Given the description of an element on the screen output the (x, y) to click on. 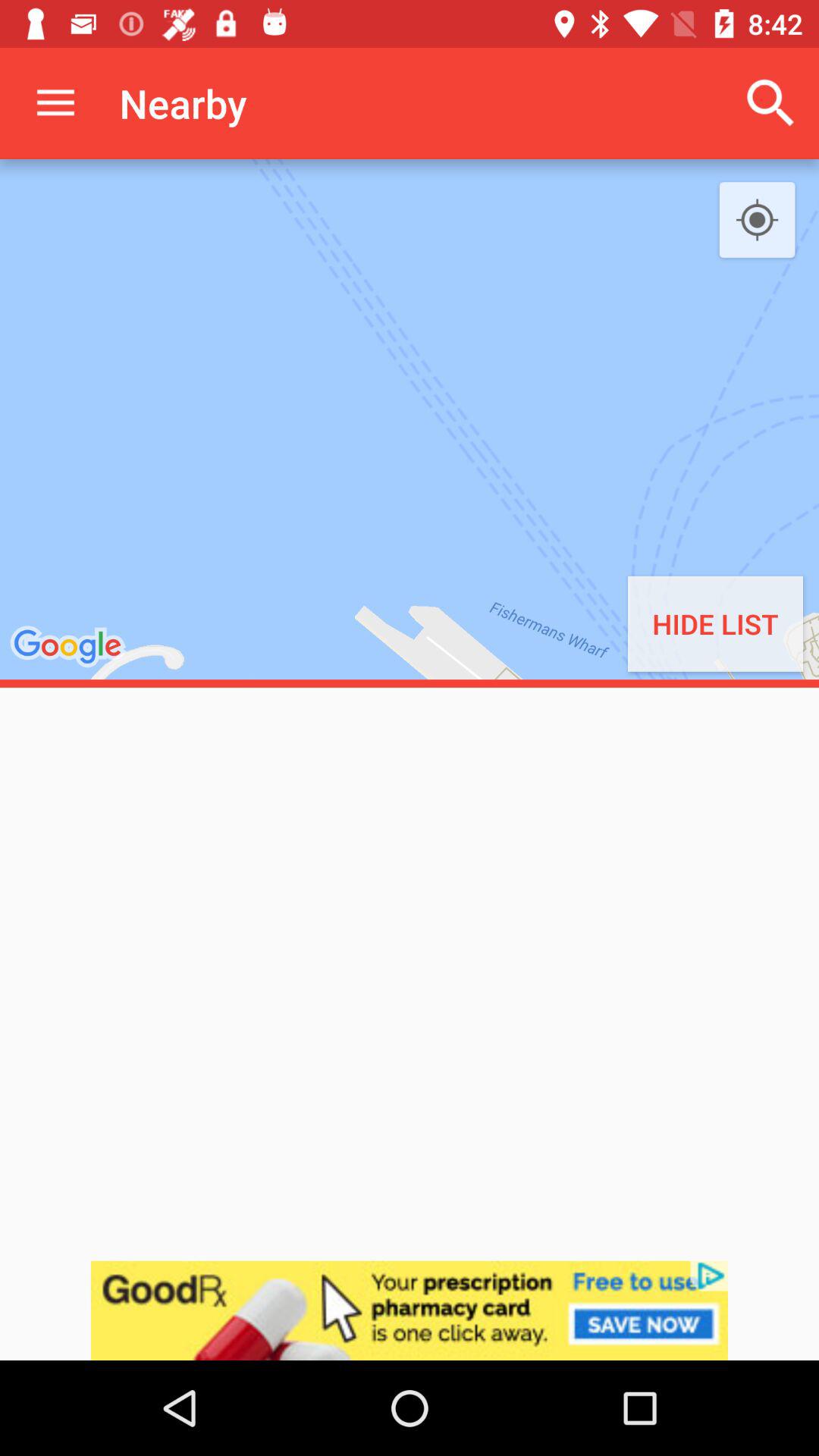
advertisements are displayed (409, 1310)
